Given the description of an element on the screen output the (x, y) to click on. 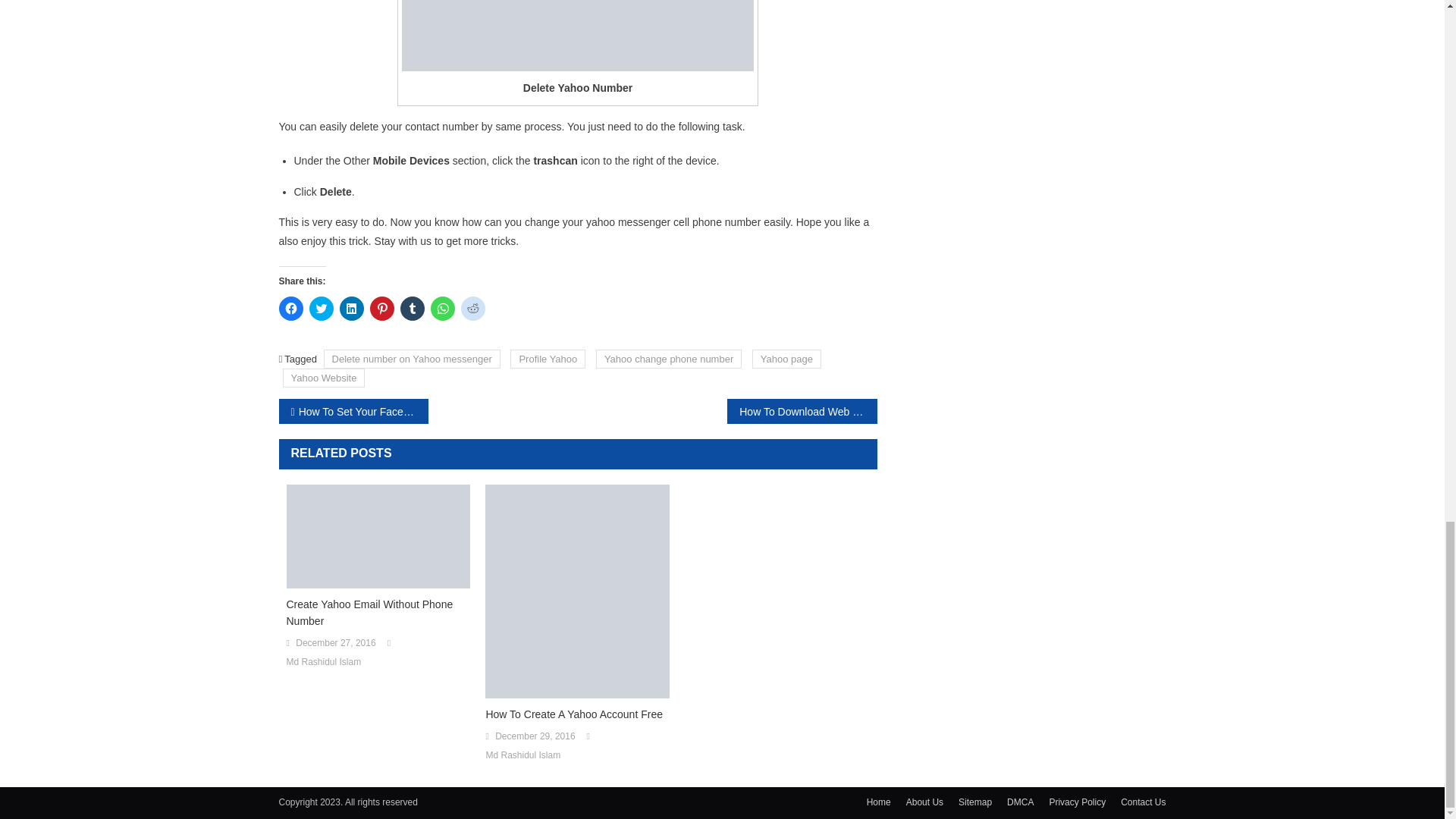
Yahoo page (786, 358)
How To Download Web Files Faster (801, 411)
Profile Yahoo (548, 358)
How To Set Your Facebook Account Memorializing After Death (353, 411)
Click to share on Twitter (320, 308)
Click to share on Tumblr (412, 308)
Click to share on Reddit (472, 308)
Click to share on Facebook (290, 308)
Delete number on Yahoo messenger (411, 358)
Click to share on Pinterest (381, 308)
Yahoo change phone number (668, 358)
Yahoo Website (323, 377)
Click to share on LinkedIn (351, 308)
Click to share on WhatsApp (442, 308)
